Given the description of an element on the screen output the (x, y) to click on. 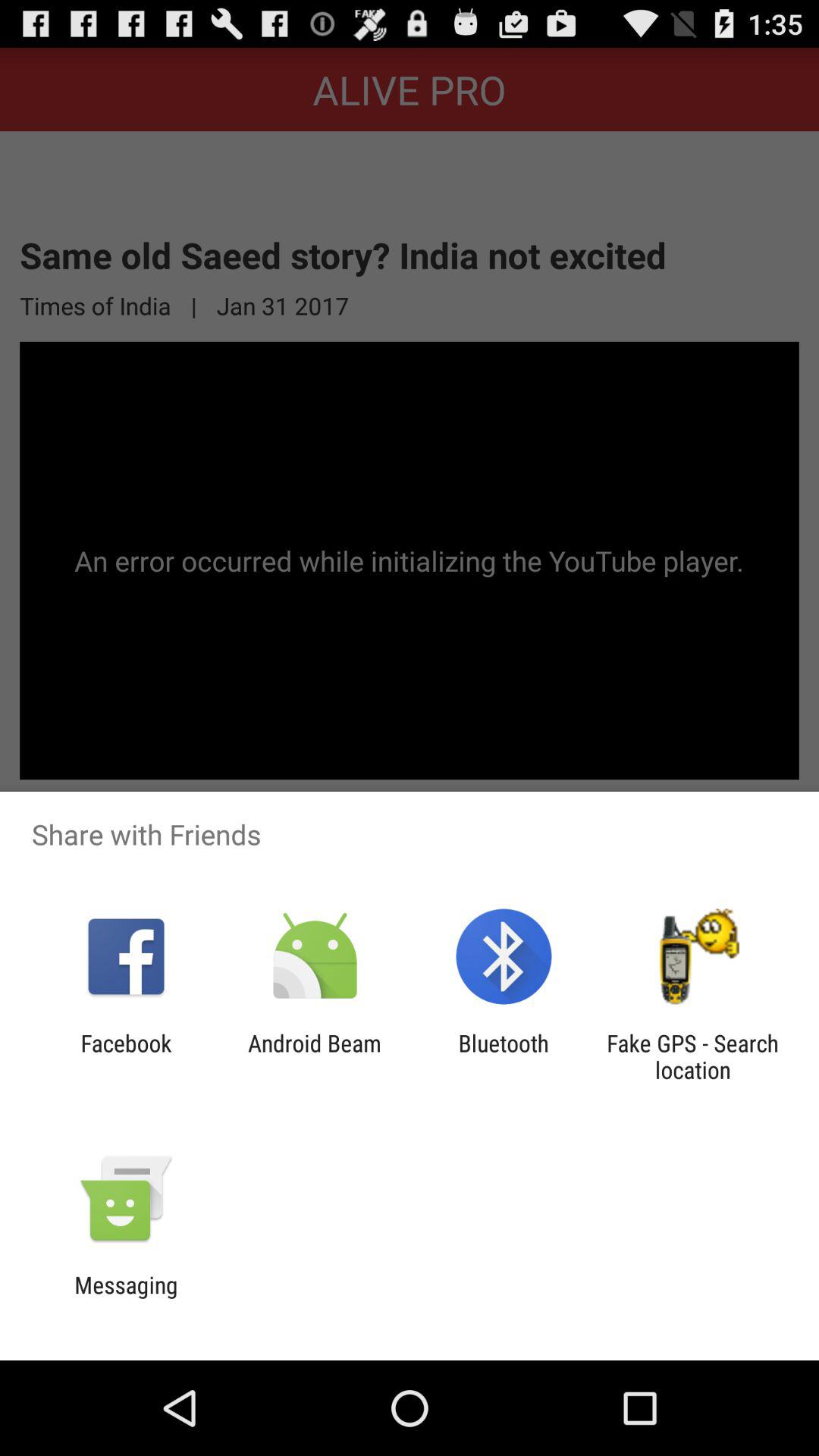
select android beam item (314, 1056)
